Given the description of an element on the screen output the (x, y) to click on. 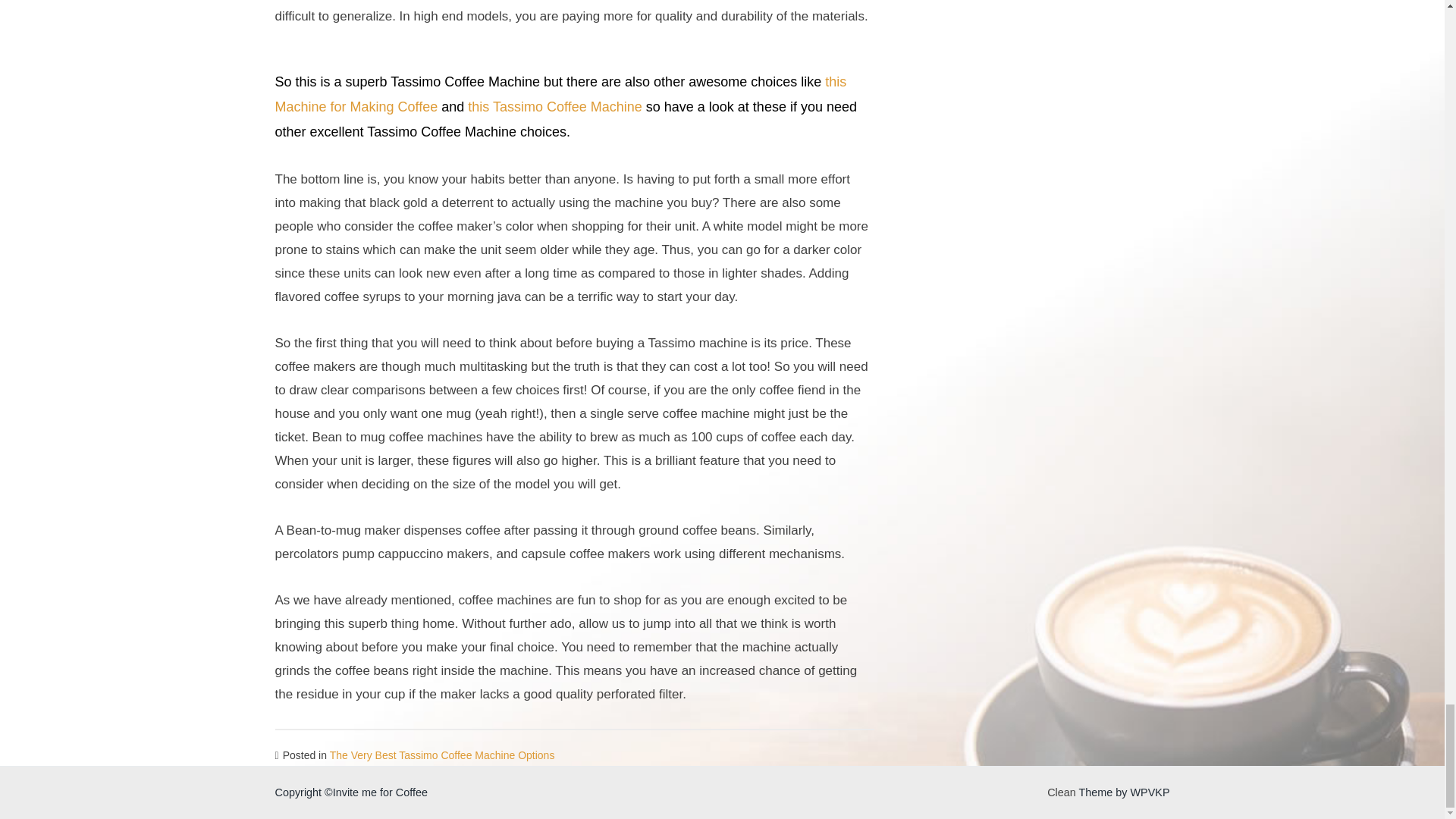
Clean (1060, 792)
this Machine for Making Coffee (560, 94)
The Very Best Tassimo Coffee Machine Options (442, 755)
this Tassimo Coffee Machine (554, 106)
